Given the description of an element on the screen output the (x, y) to click on. 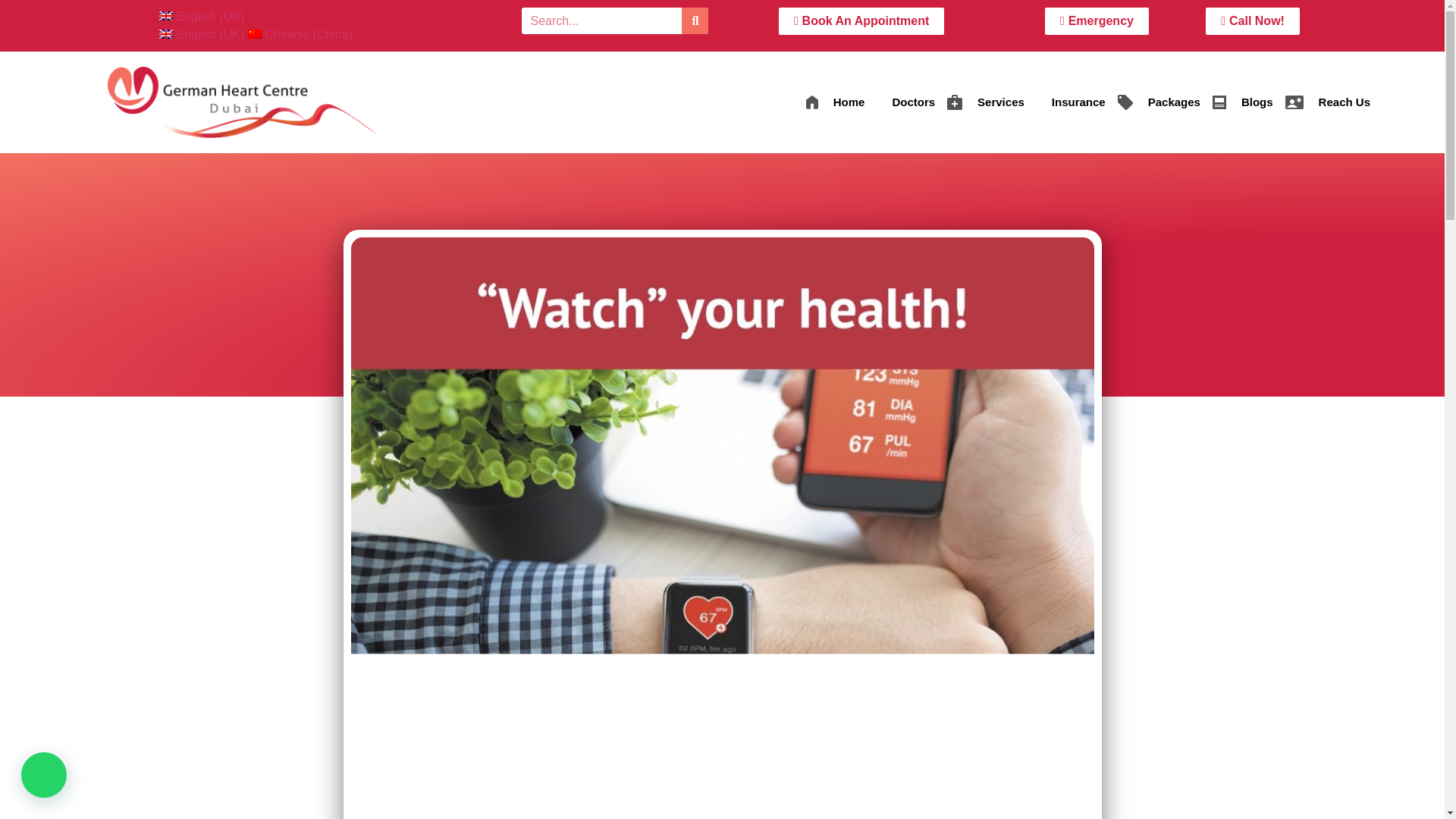
Doctors (905, 102)
Home (834, 102)
Call Now! (1252, 21)
Emergency (1096, 21)
Book An Appointment (861, 21)
Services (985, 102)
